Given the description of an element on the screen output the (x, y) to click on. 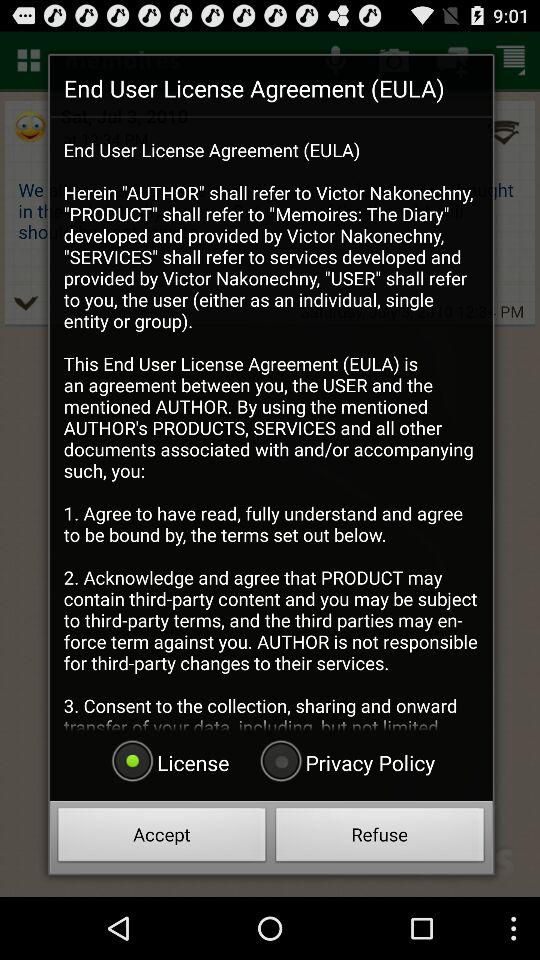
press refuse at the bottom right corner (380, 837)
